Given the description of an element on the screen output the (x, y) to click on. 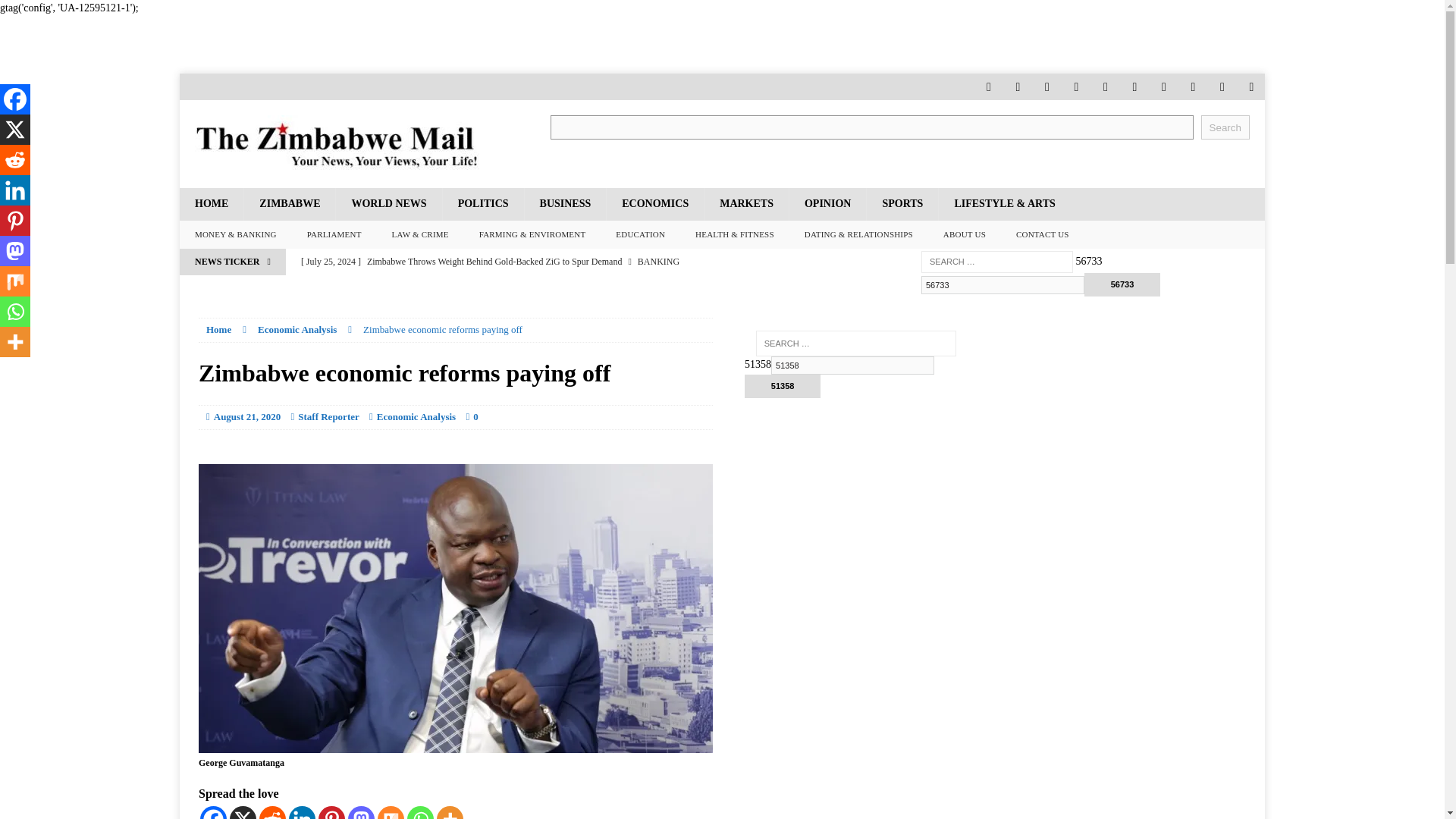
POLITICS (483, 204)
Search (1225, 127)
56733 (1002, 285)
CONTACT US (1042, 234)
ECONOMICS (654, 204)
51358 (782, 386)
OPINION (827, 204)
WORLD NEWS (387, 204)
56733 (1122, 284)
Facebook (213, 812)
ABOUT US (964, 234)
HOME (211, 204)
Pinterest (331, 812)
Search (37, 11)
56733 (1002, 285)
